Given the description of an element on the screen output the (x, y) to click on. 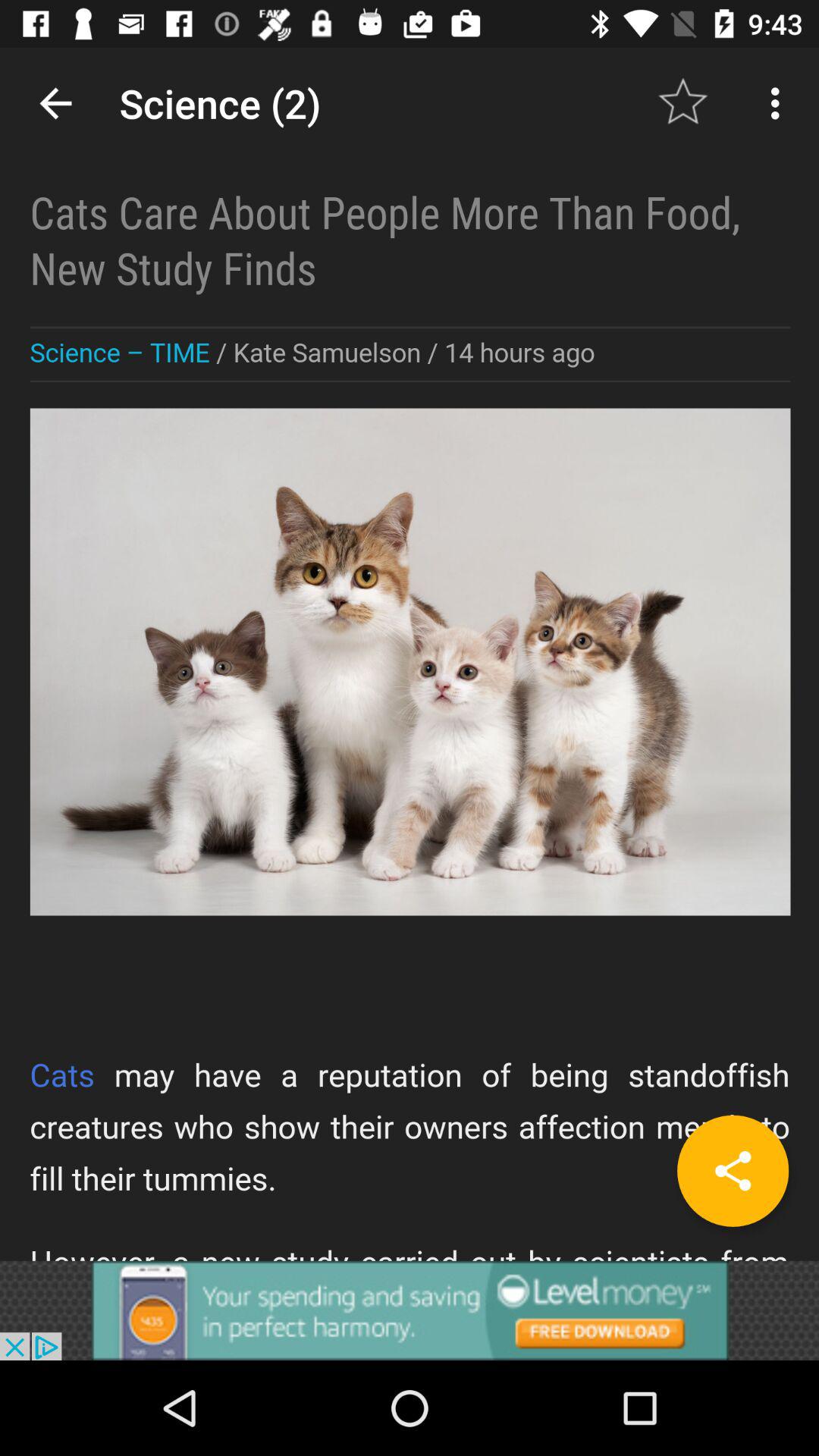
share button (733, 1171)
